Given the description of an element on the screen output the (x, y) to click on. 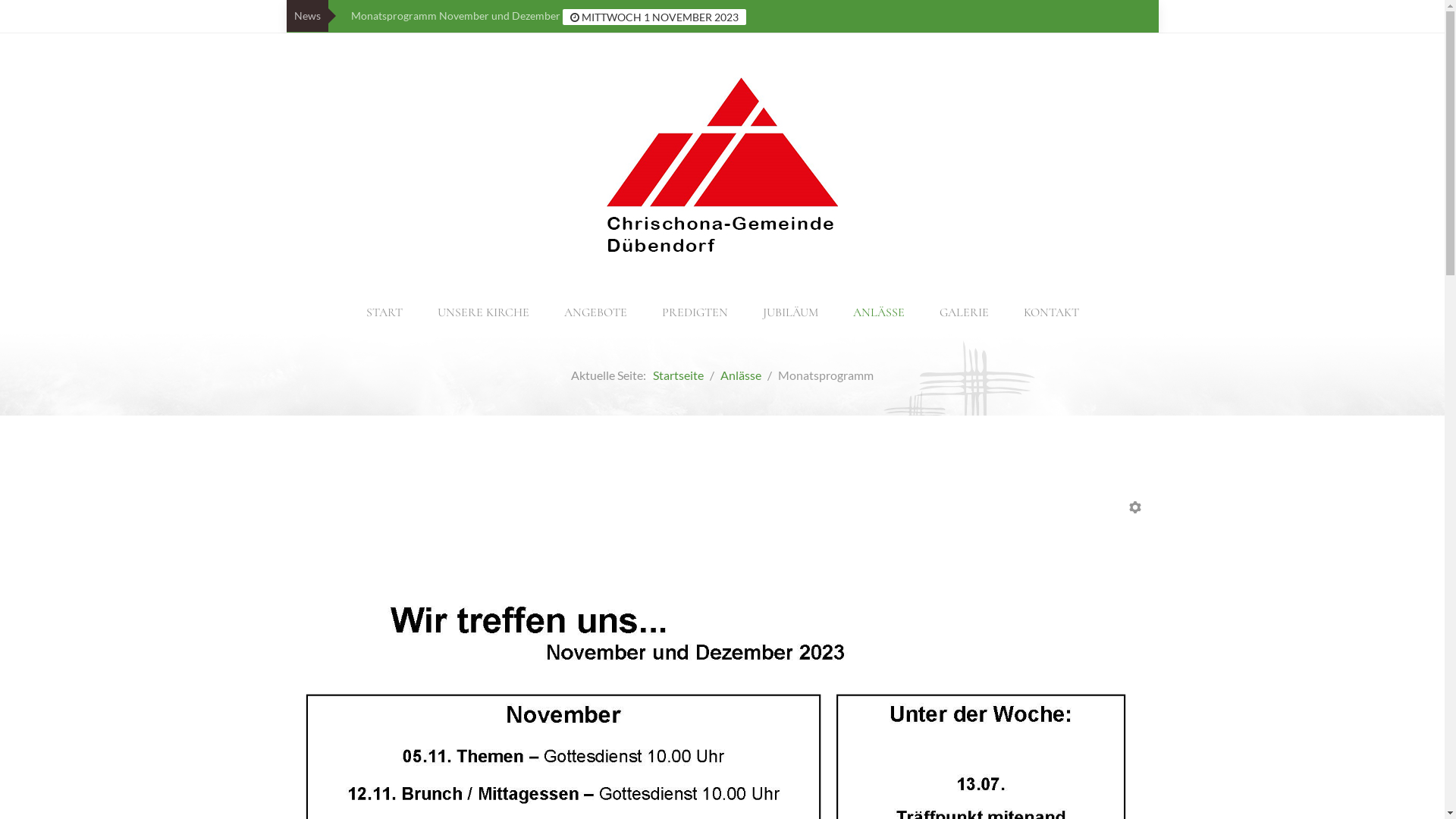
START Element type: text (383, 312)
ANGEBOTE Element type: text (595, 312)
UNSERE KIRCHE Element type: text (482, 312)
Startseite Element type: text (677, 374)
PREDIGTEN Element type: text (694, 312)
KONTAKT Element type: text (1051, 312)
Monatsprogramm November und Dezember Element type: text (455, 15)
GALERIE Element type: text (963, 312)
